Given the description of an element on the screen output the (x, y) to click on. 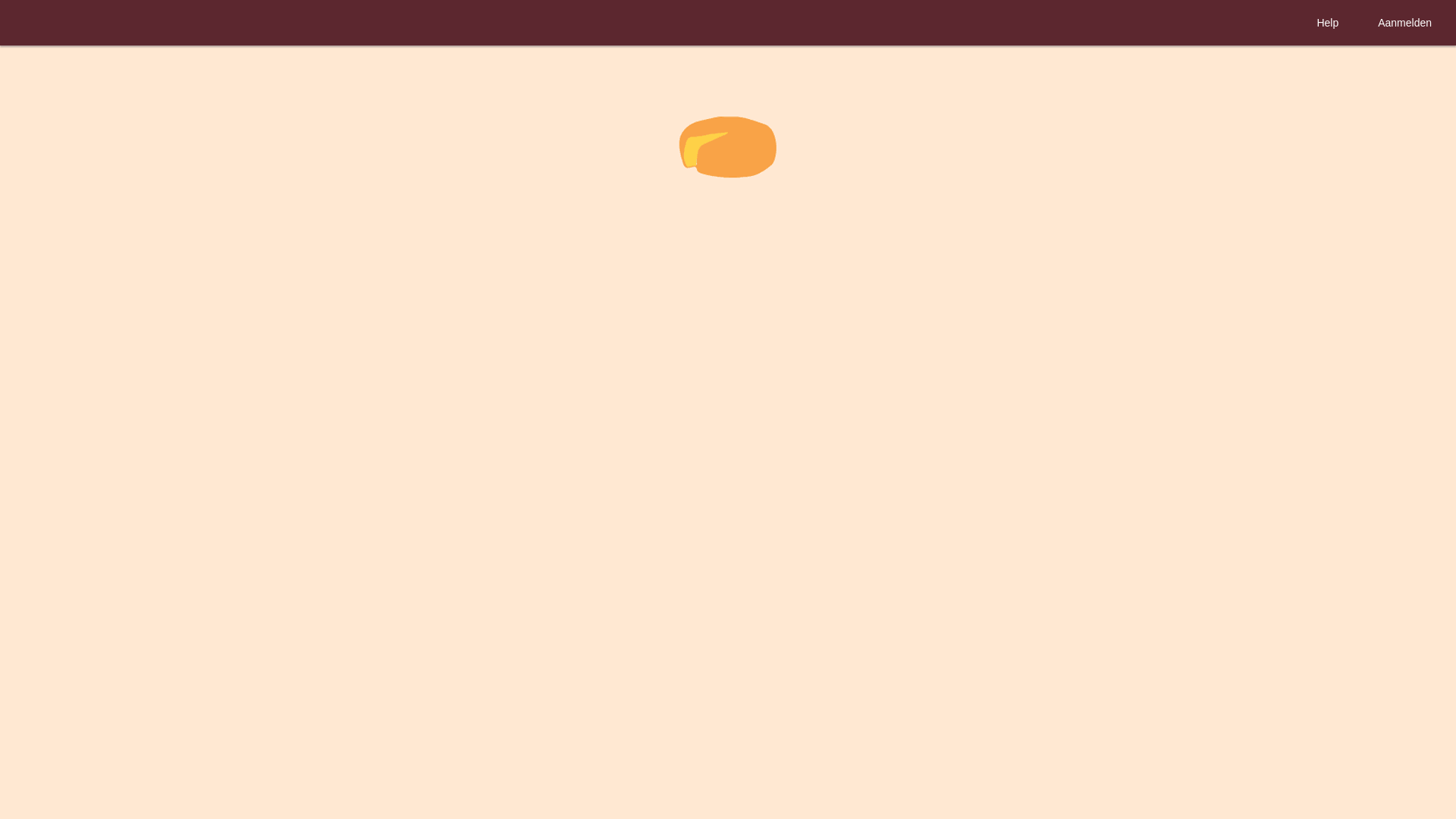
Aanmelden Element type: text (1404, 23)
Help Element type: text (1327, 23)
